Given the description of an element on the screen output the (x, y) to click on. 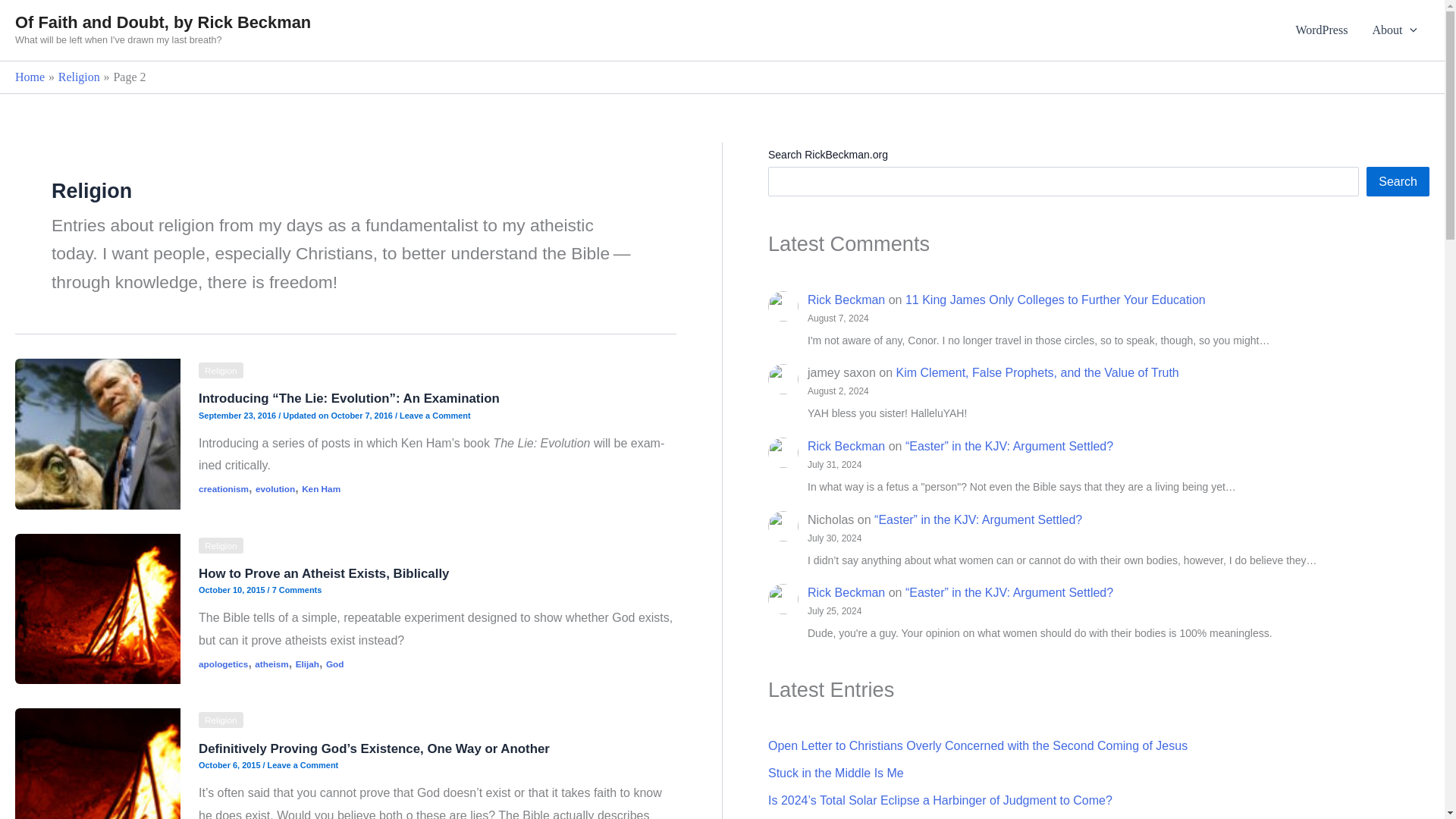
Of Faith and Doubt, by Rick Beckman (162, 22)
Leave a Comment (434, 415)
creationism (223, 488)
Religion (220, 370)
WordPress (1320, 30)
Home (29, 76)
evolution (275, 488)
Religion (79, 76)
Ken Ham (320, 488)
About (1394, 30)
